Given the description of an element on the screen output the (x, y) to click on. 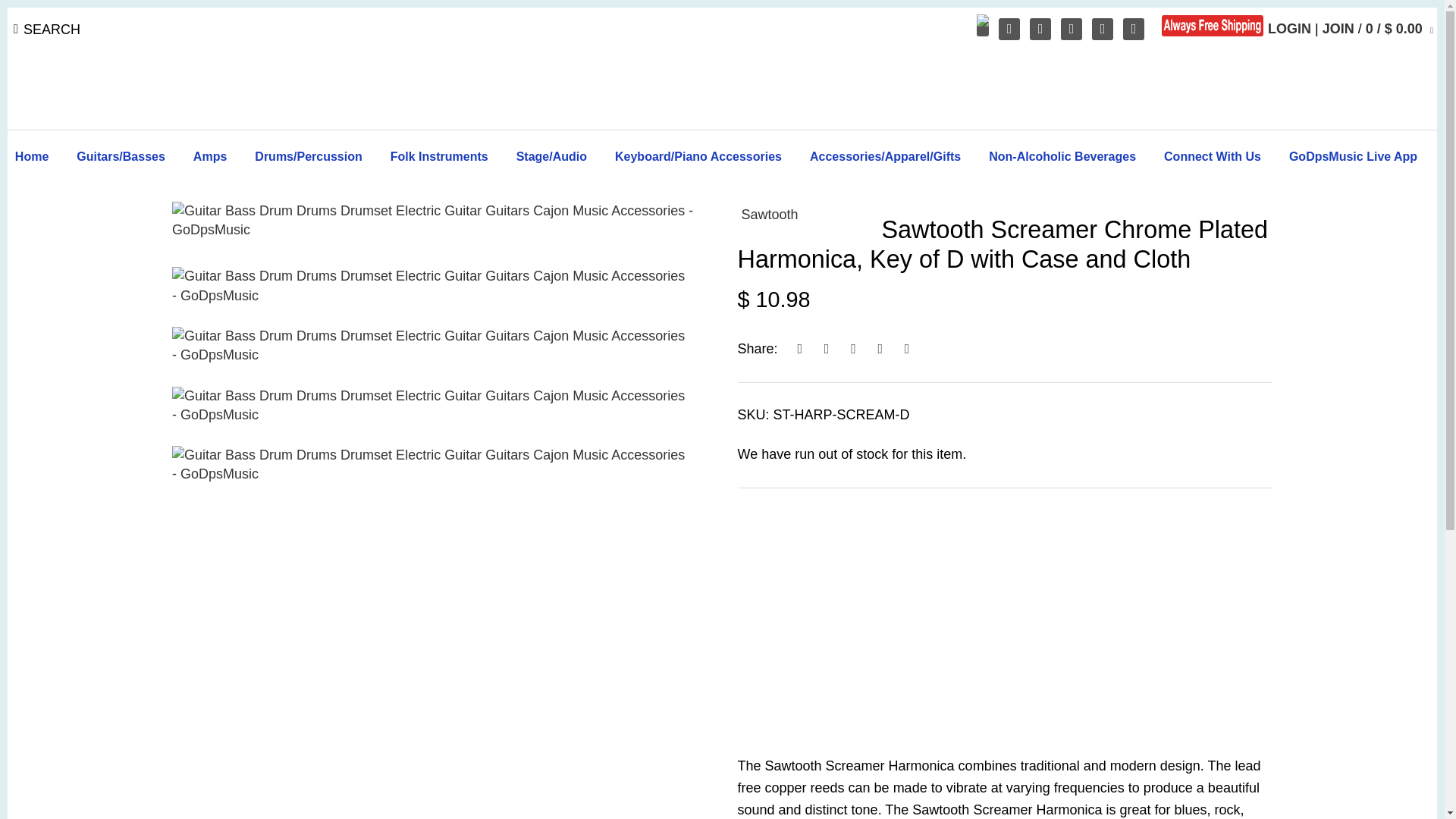
Youtube (1040, 29)
Instagram (1102, 29)
Pinterest (1133, 29)
Share using email (906, 348)
Folk Instruments (439, 159)
JOIN (1338, 28)
LOGIN (1289, 28)
Home (37, 159)
Share on Facebook (799, 348)
Facebook (1009, 29)
Twitter (1072, 29)
Share on Twitter (825, 348)
